Given the description of an element on the screen output the (x, y) to click on. 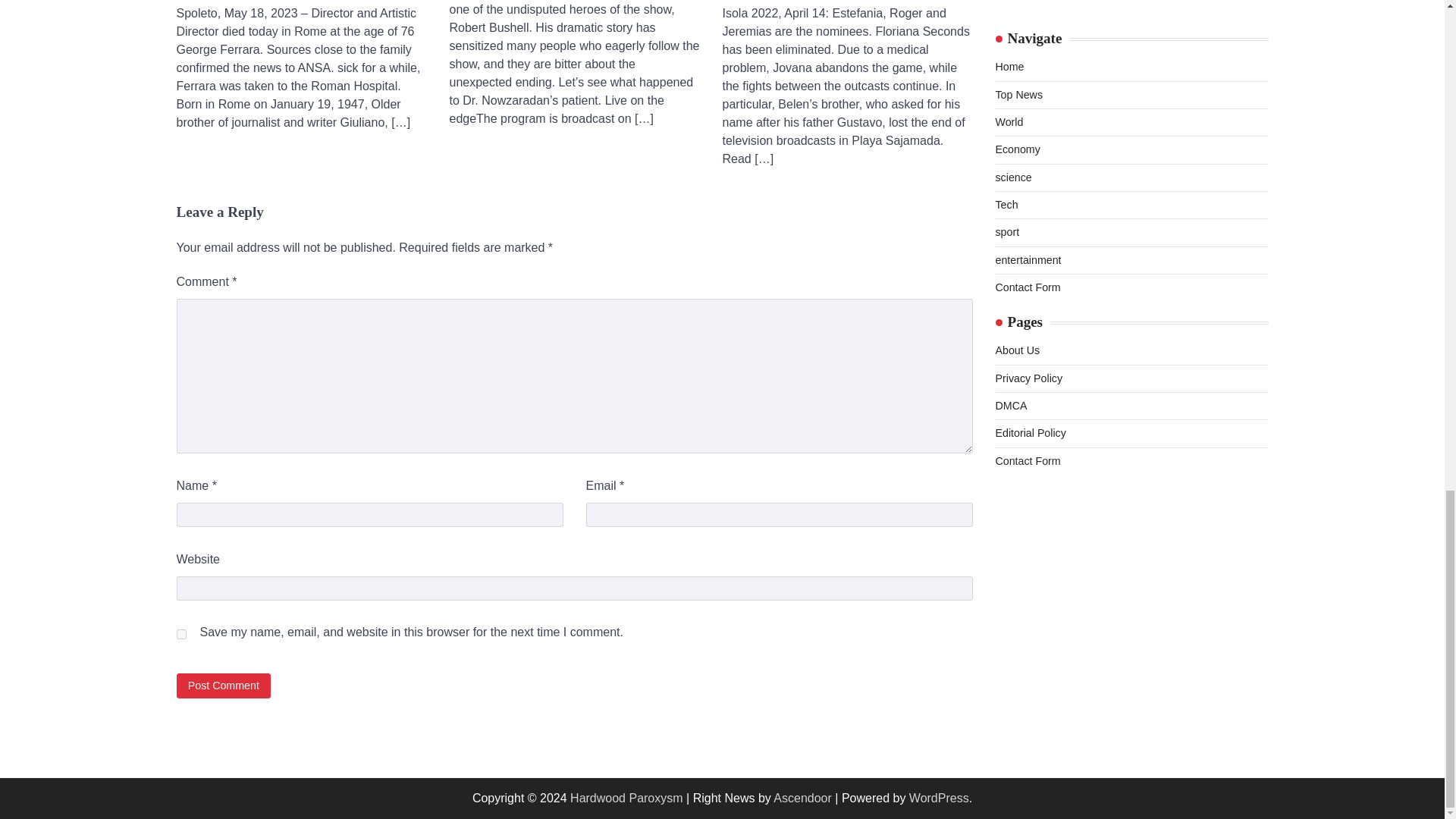
Post Comment (223, 685)
Post Comment (223, 685)
yes (181, 634)
